Given the description of an element on the screen output the (x, y) to click on. 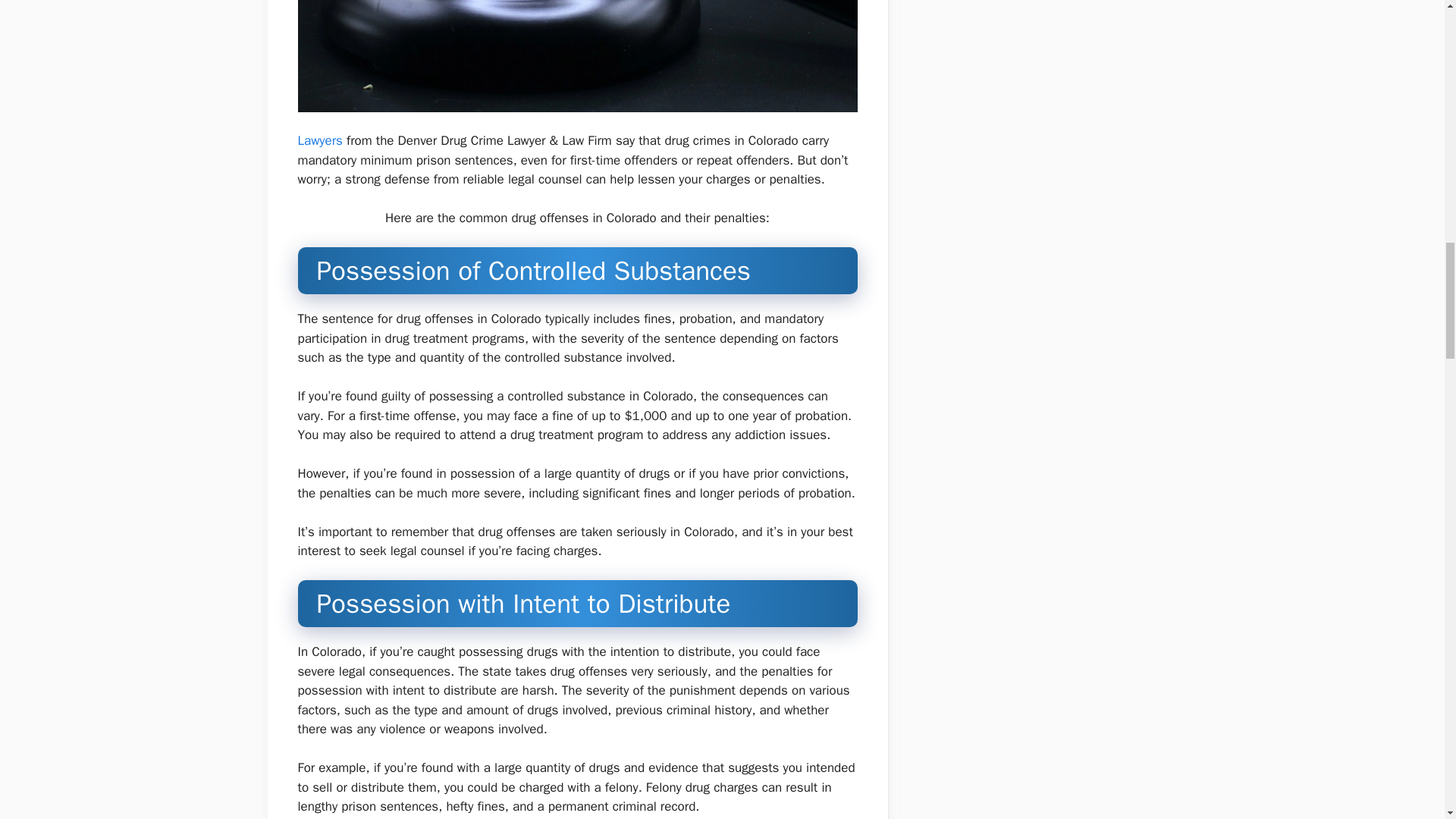
Lawyers (319, 140)
